Given the description of an element on the screen output the (x, y) to click on. 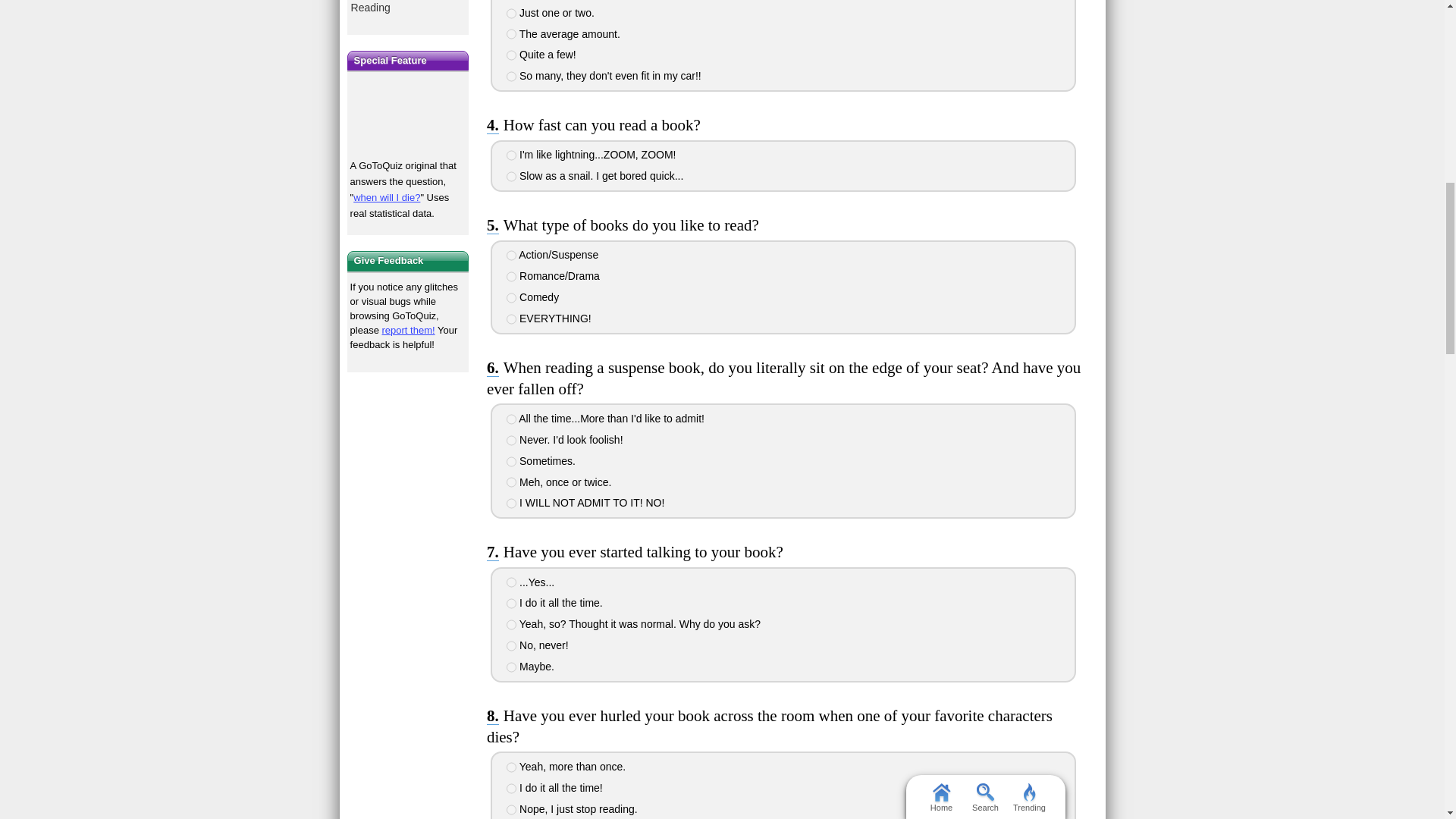
2 (511, 276)
1 (511, 419)
report them! (408, 329)
when will I die? (386, 197)
Try our lifespan calculator (407, 115)
5 (511, 76)
1 (511, 255)
1 (511, 154)
2 (511, 13)
2 (511, 176)
